Given the description of an element on the screen output the (x, y) to click on. 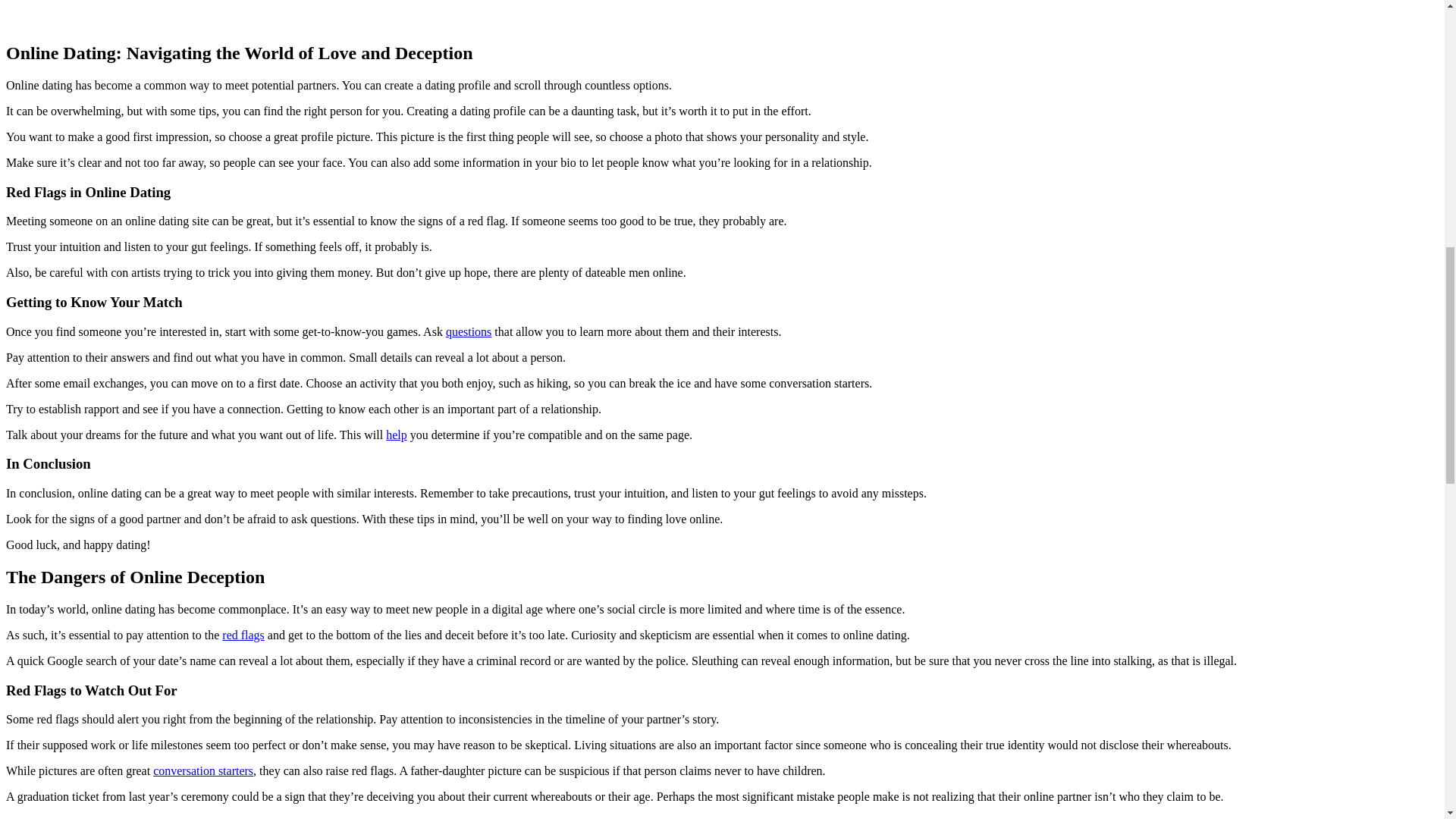
red flags (243, 634)
questions (468, 331)
help (396, 434)
conversation starters (202, 770)
